Given the description of an element on the screen output the (x, y) to click on. 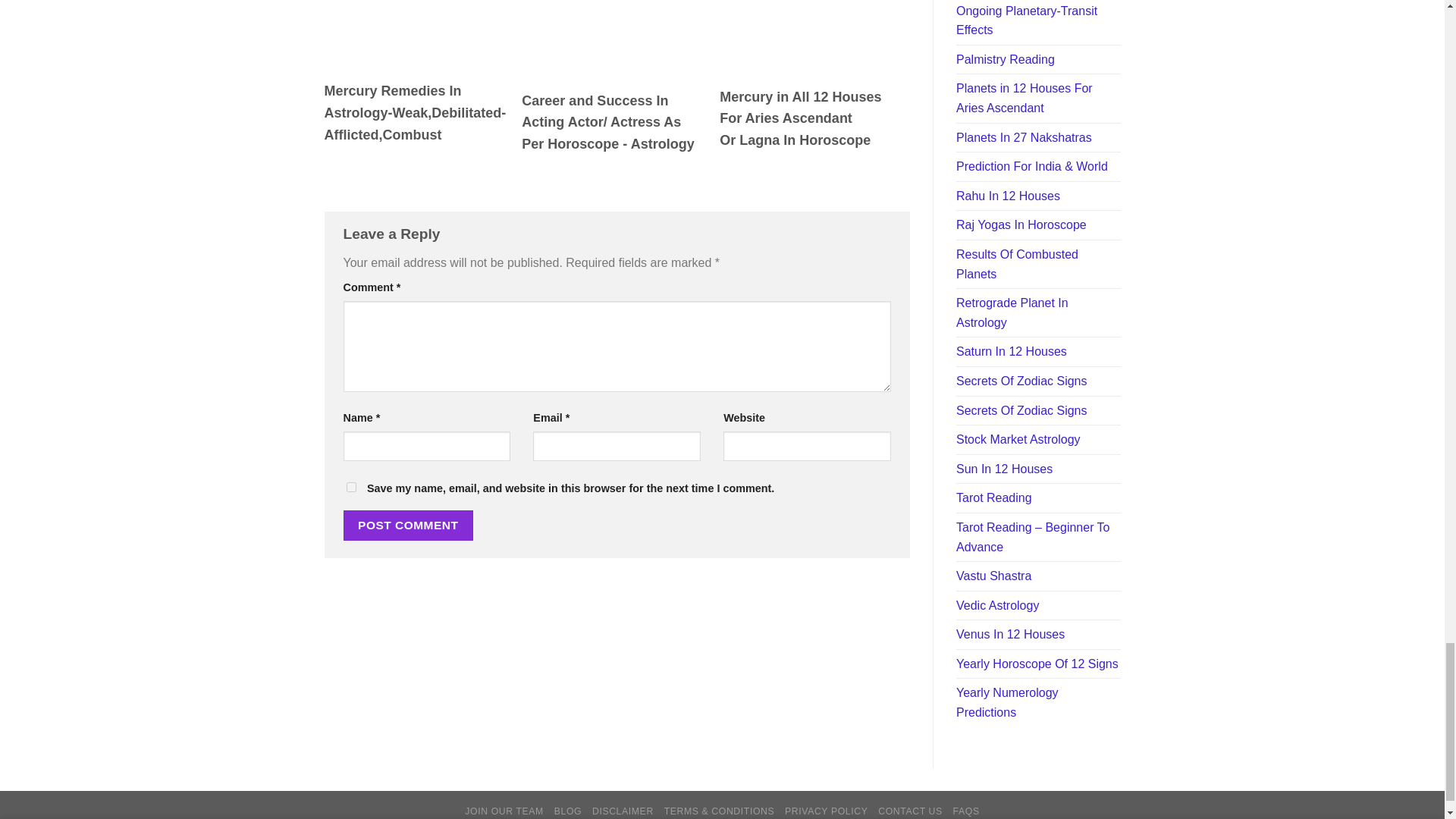
yes (350, 487)
Post Comment (407, 524)
